Given the description of an element on the screen output the (x, y) to click on. 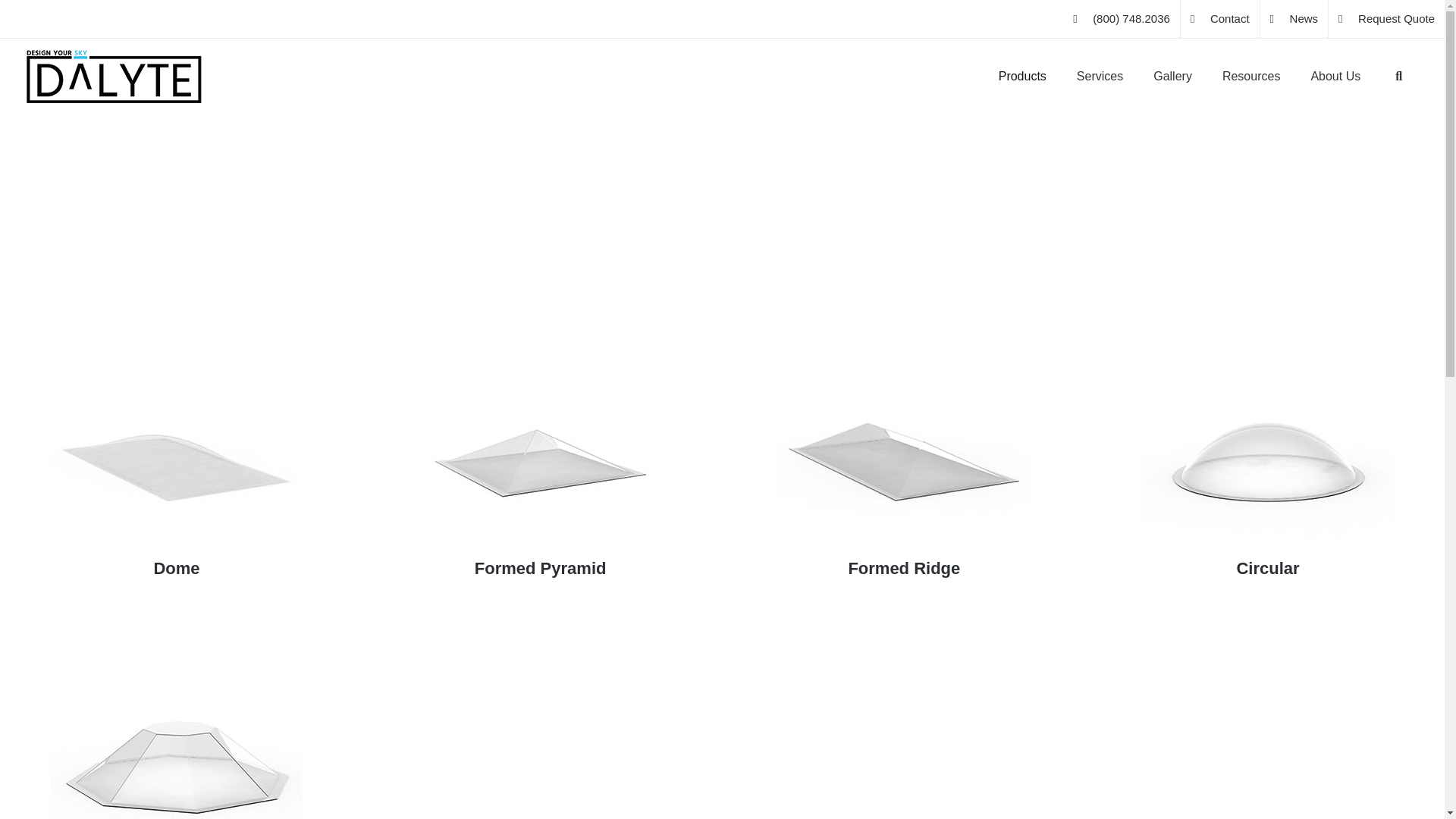
Contact (1219, 18)
News (1293, 18)
